Given the description of an element on the screen output the (x, y) to click on. 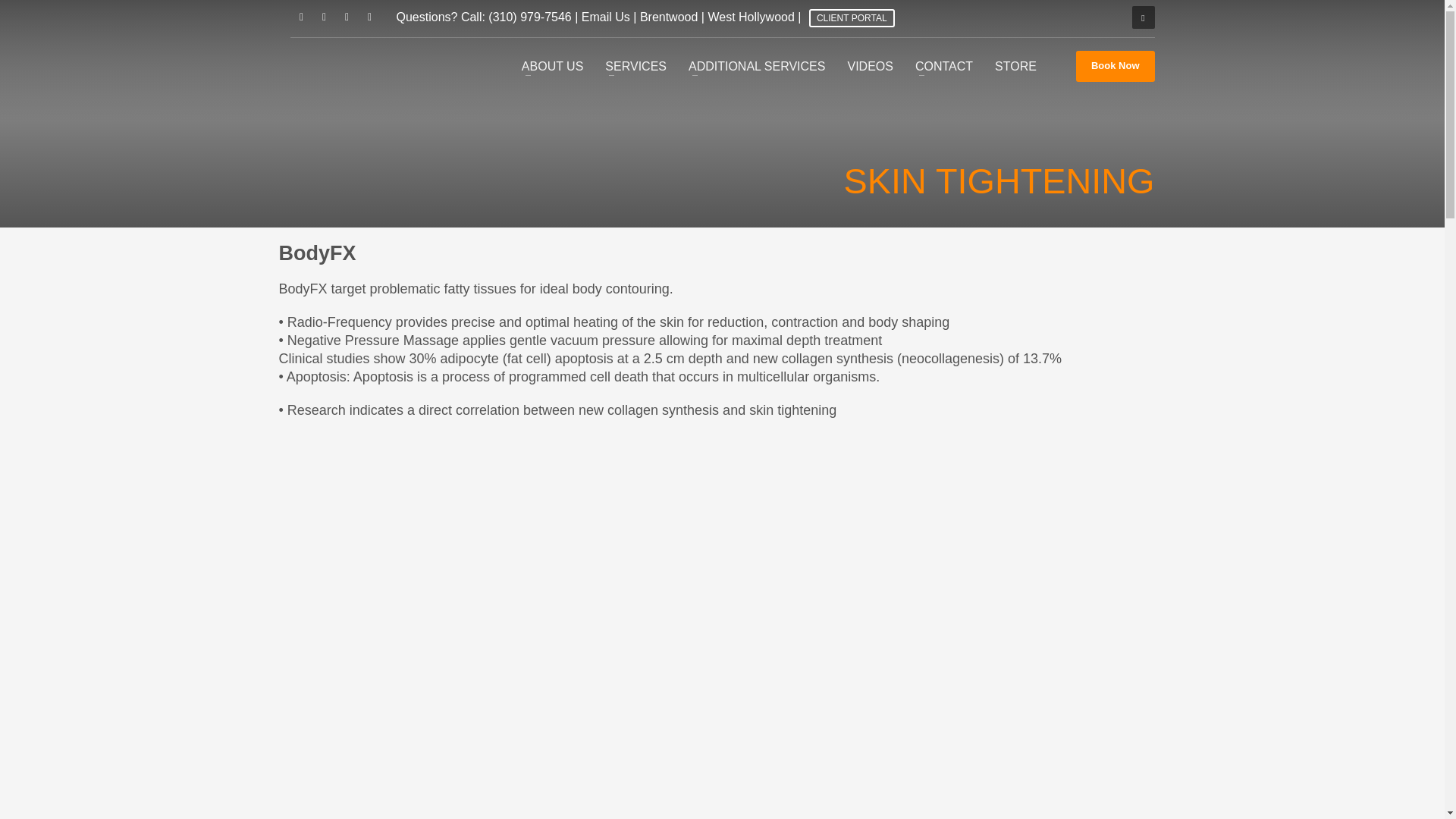
Brentwood (669, 16)
Instagram (369, 16)
CLIENT PORTAL (852, 18)
facebook (301, 16)
SERVICES (635, 66)
ABOUT US (552, 66)
Email Us (605, 16)
Youtube (323, 16)
West Hollywood (750, 16)
yelp (346, 16)
